Given the description of an element on the screen output the (x, y) to click on. 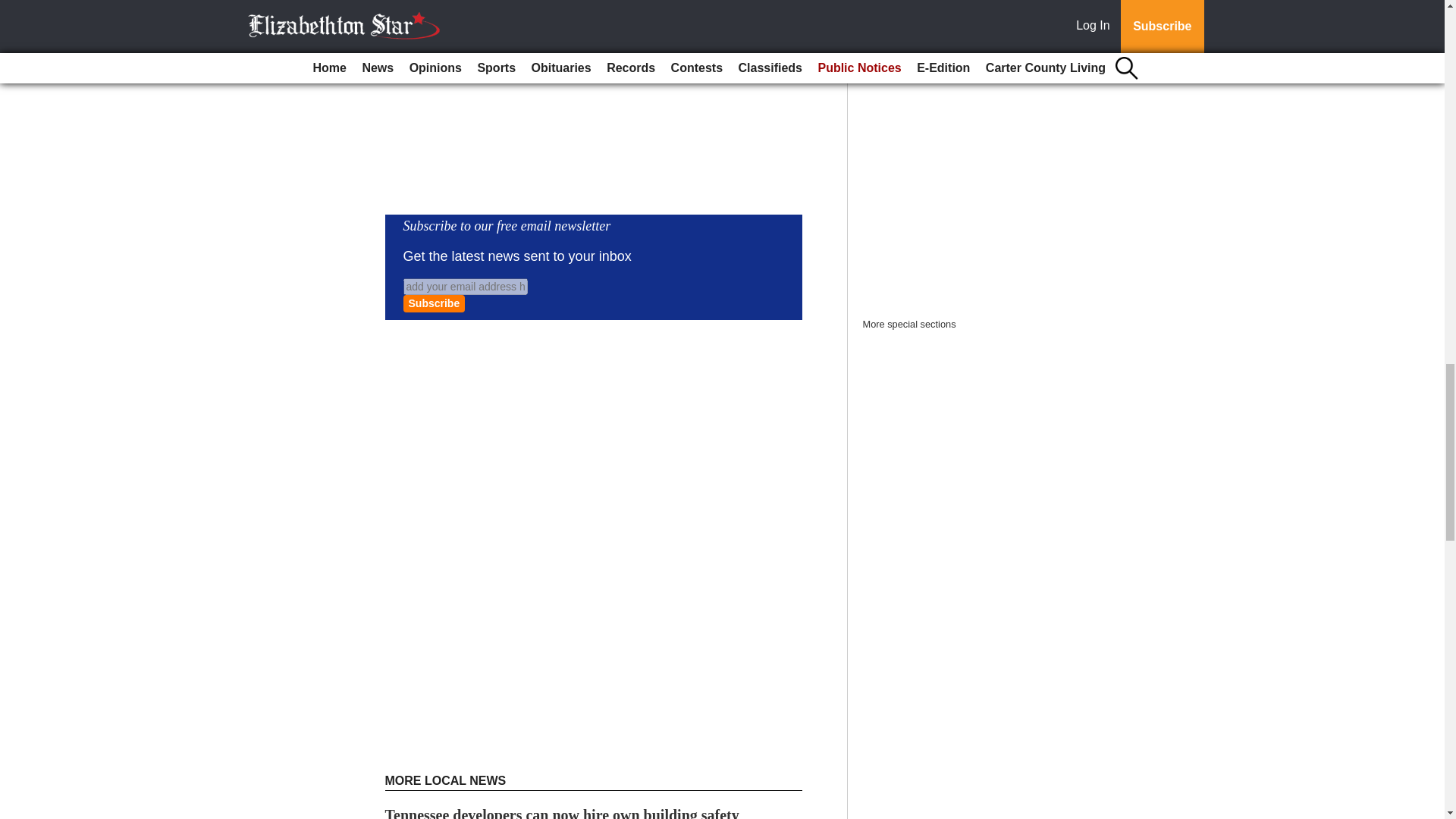
Subscribe (434, 303)
More special sections (909, 324)
Subscribe (434, 303)
